Given the description of an element on the screen output the (x, y) to click on. 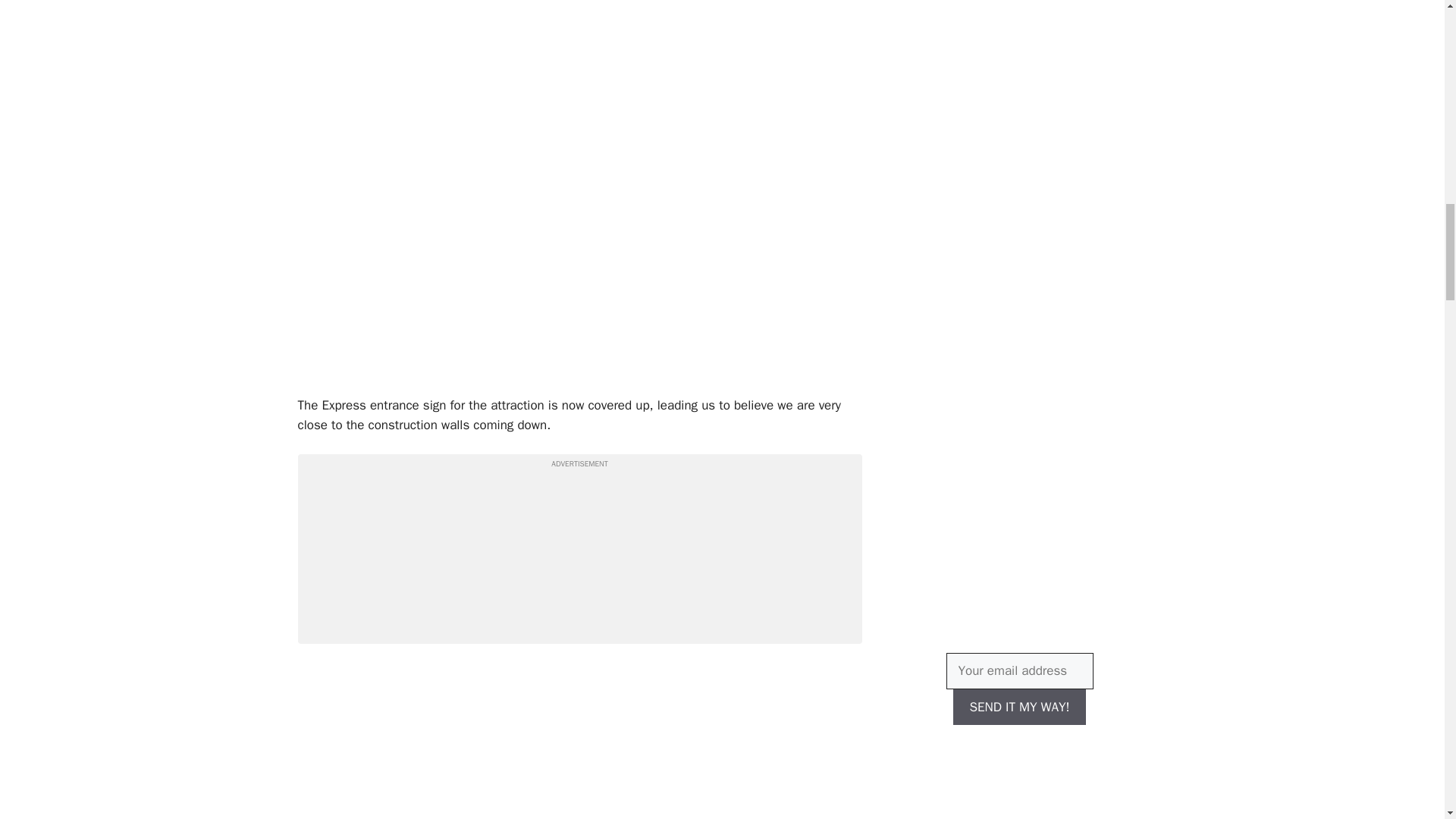
SEND IT MY WAY! (1018, 707)
